Given the description of an element on the screen output the (x, y) to click on. 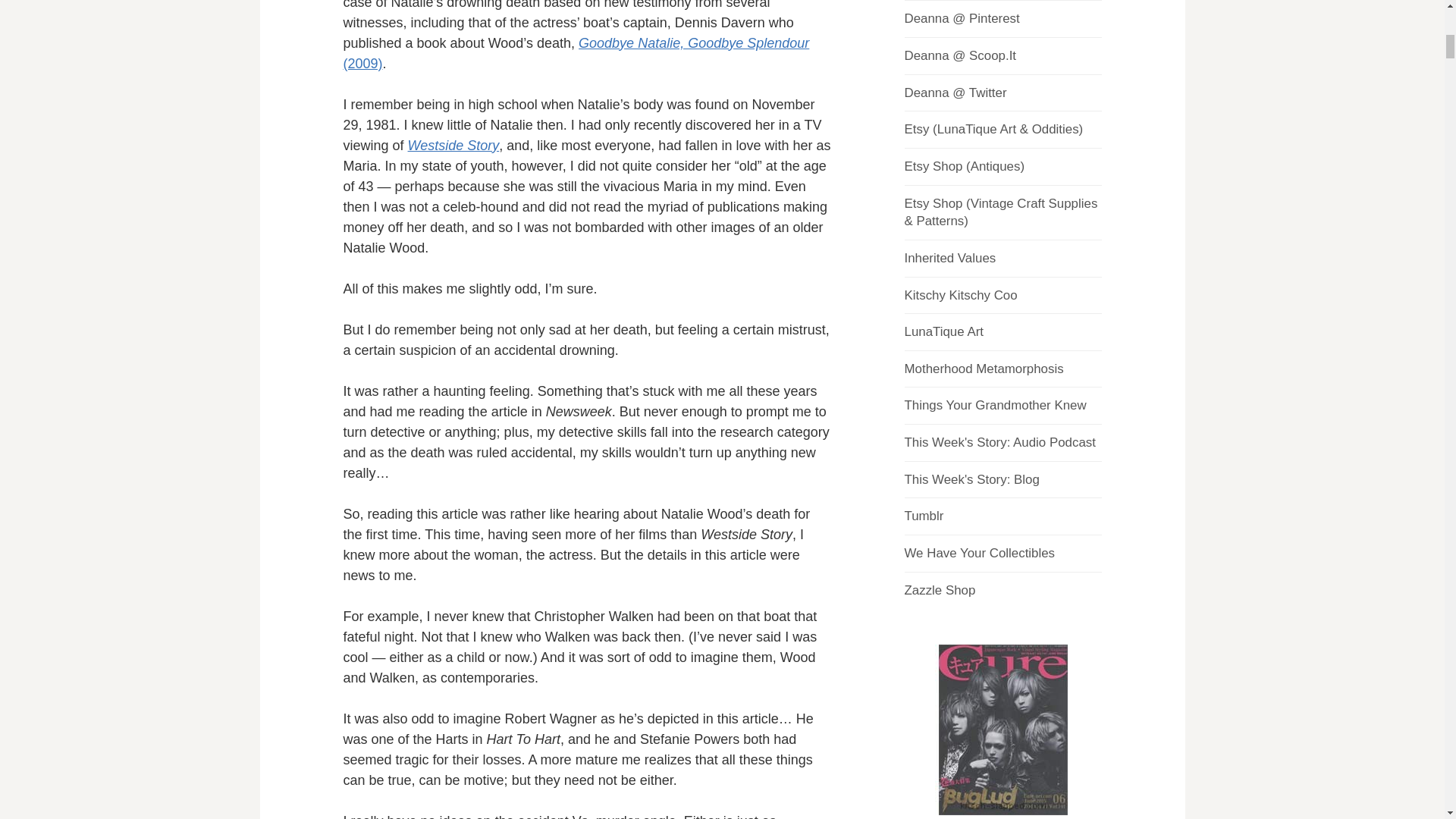
Westside Story (453, 145)
